Given the description of an element on the screen output the (x, y) to click on. 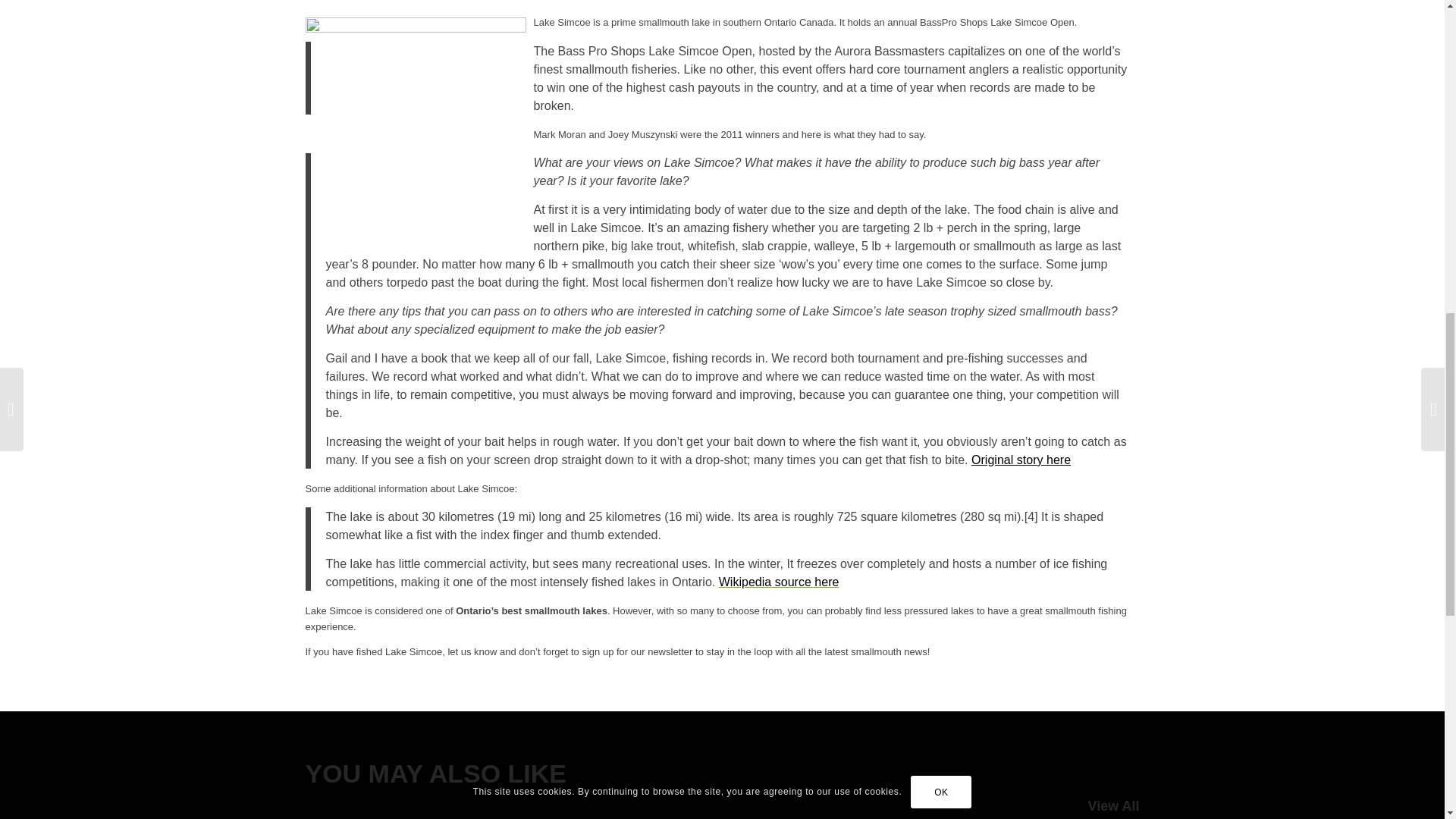
View All (1112, 806)
Wikipedia source here (779, 581)
Original story here (1020, 459)
Lake Simcox (414, 130)
